Given the description of an element on the screen output the (x, y) to click on. 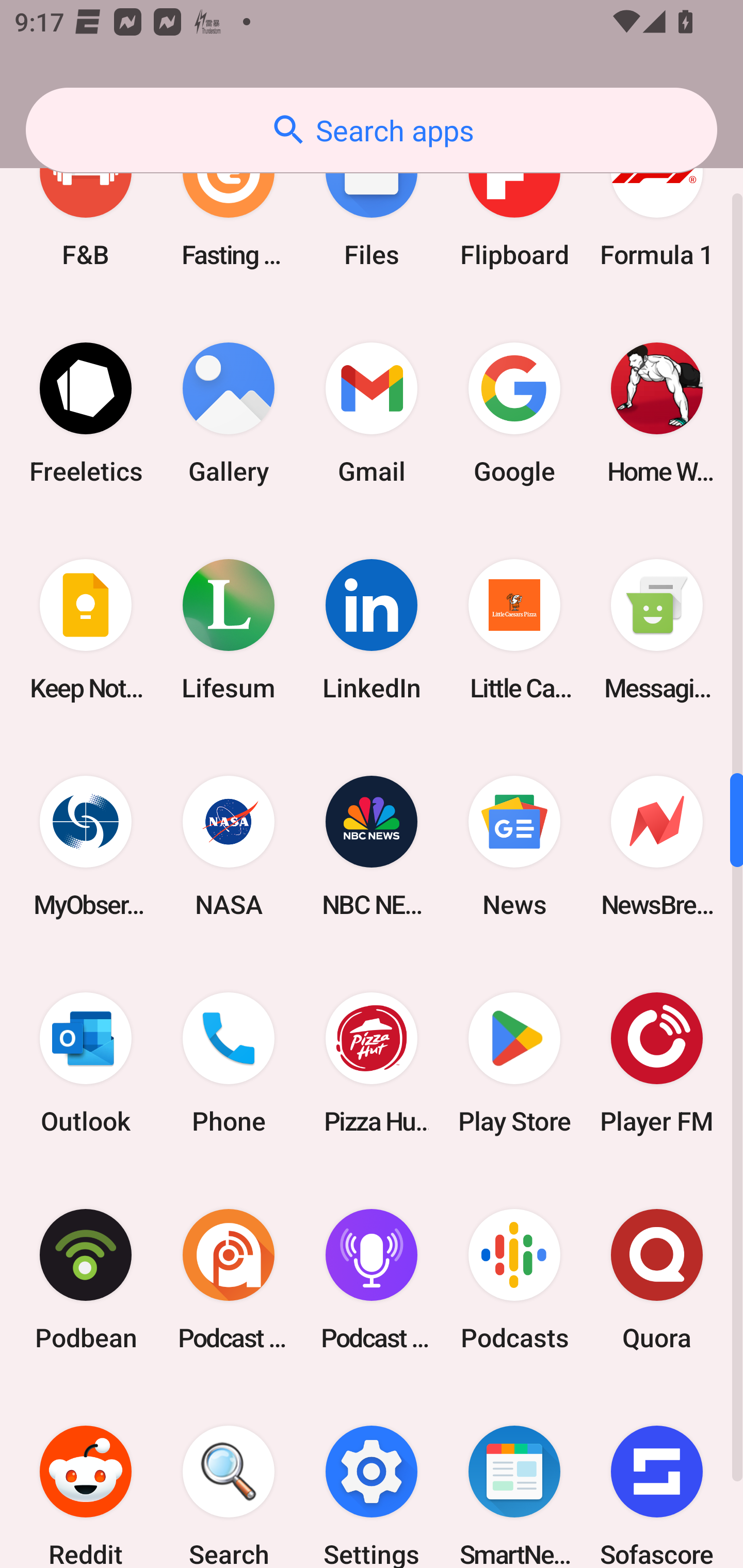
  Search apps (371, 130)
F&B (85, 203)
Fasting Coach (228, 203)
Files (371, 203)
Flipboard (514, 203)
Formula 1 (656, 203)
Freeletics (85, 413)
Gallery (228, 413)
Gmail (371, 413)
Google (514, 413)
Home Workout (656, 413)
Keep Notes (85, 630)
Lifesum (228, 630)
LinkedIn (371, 630)
Little Caesars Pizza (514, 630)
Messaging (656, 630)
MyObservatory (85, 846)
NASA (228, 846)
NBC NEWS (371, 846)
News (514, 846)
NewsBreak (656, 846)
Outlook (85, 1062)
Phone (228, 1062)
Pizza Hut HK & Macau (371, 1062)
Play Store (514, 1062)
Player FM (656, 1062)
Podbean (85, 1279)
Podcast Addict (228, 1279)
Podcast Player (371, 1279)
Podcasts (514, 1279)
Quora (656, 1279)
Reddit (85, 1477)
Search (228, 1477)
Settings (371, 1477)
SmartNews (514, 1477)
Sofascore (656, 1477)
